Given the description of an element on the screen output the (x, y) to click on. 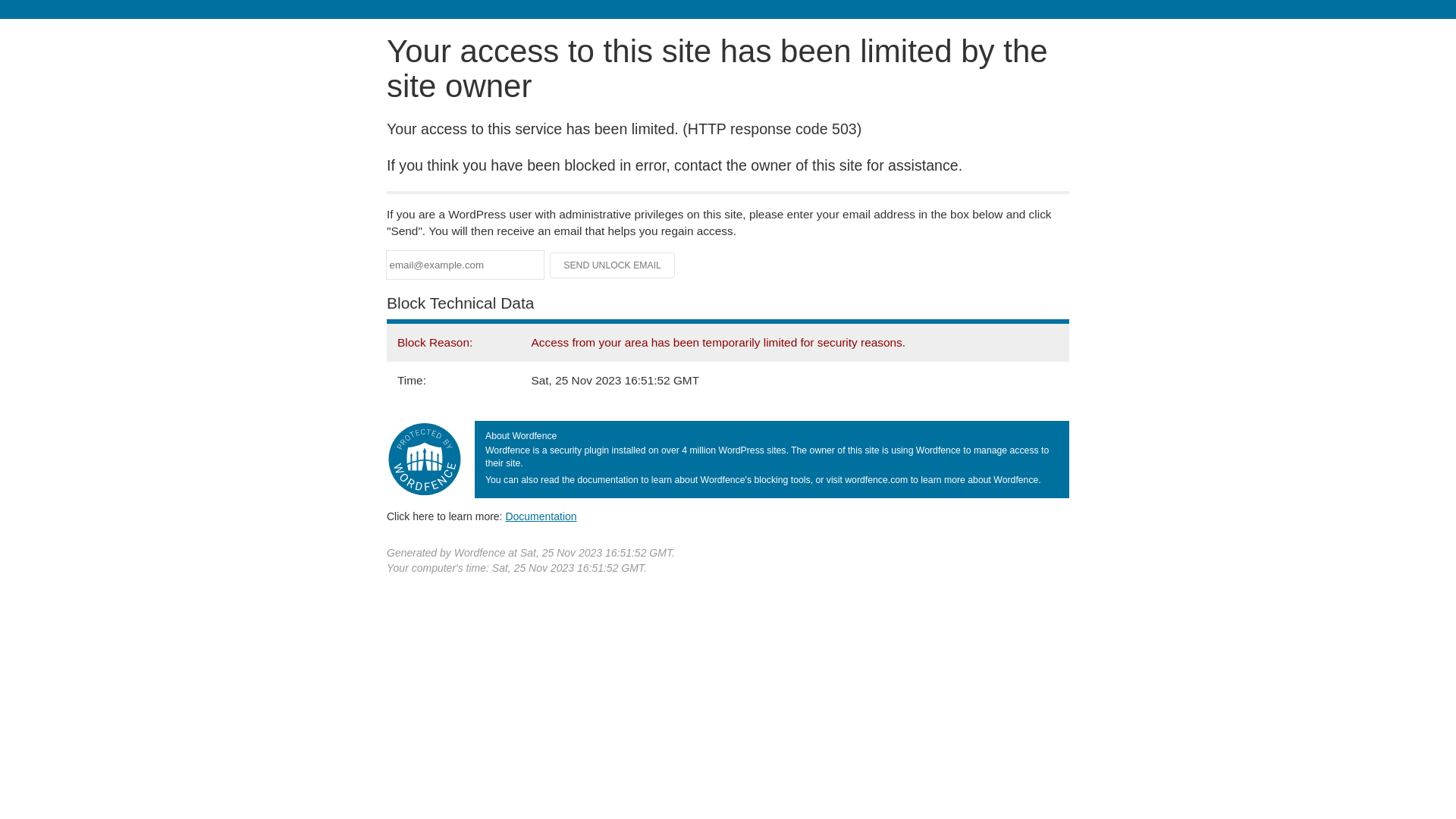
Send Unlock Email Element type: text (612, 265)
Documentation Element type: text (540, 516)
